Given the description of an element on the screen output the (x, y) to click on. 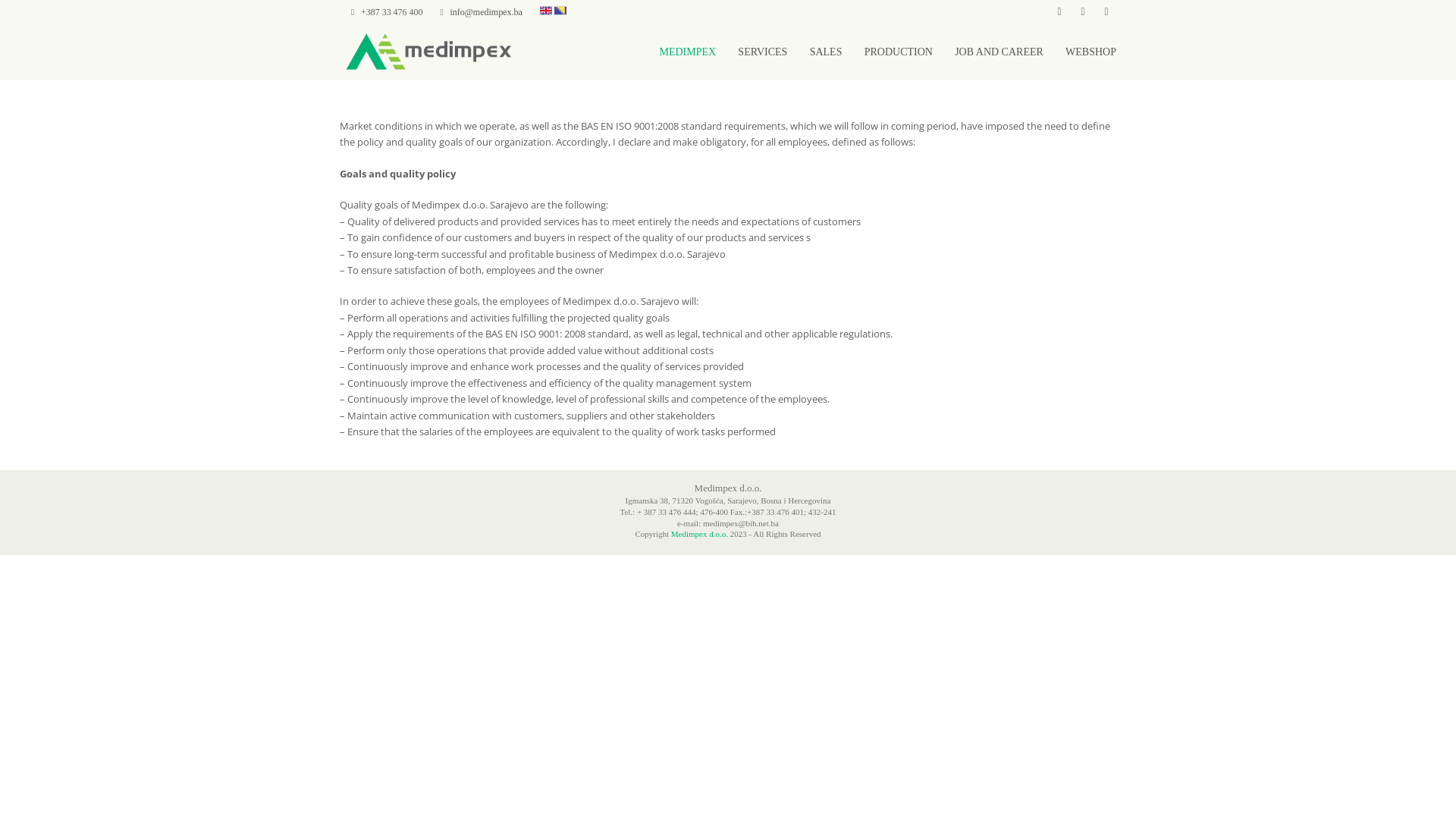
Medimpex d.o.o. Element type: text (699, 533)
JOB AND CAREER Element type: text (998, 51)
SALES Element type: text (825, 51)
Facebook Element type: text (1059, 11)
SERVICES Element type: text (762, 51)
LinkedIn Element type: text (1106, 11)
WEBSHOP Element type: text (1090, 51)
Instagram Element type: text (1082, 11)
PRODUCTION Element type: text (898, 51)
info@medimpex.ba Element type: text (486, 11)
MEDIMPEX Element type: text (686, 51)
